Given the description of an element on the screen output the (x, y) to click on. 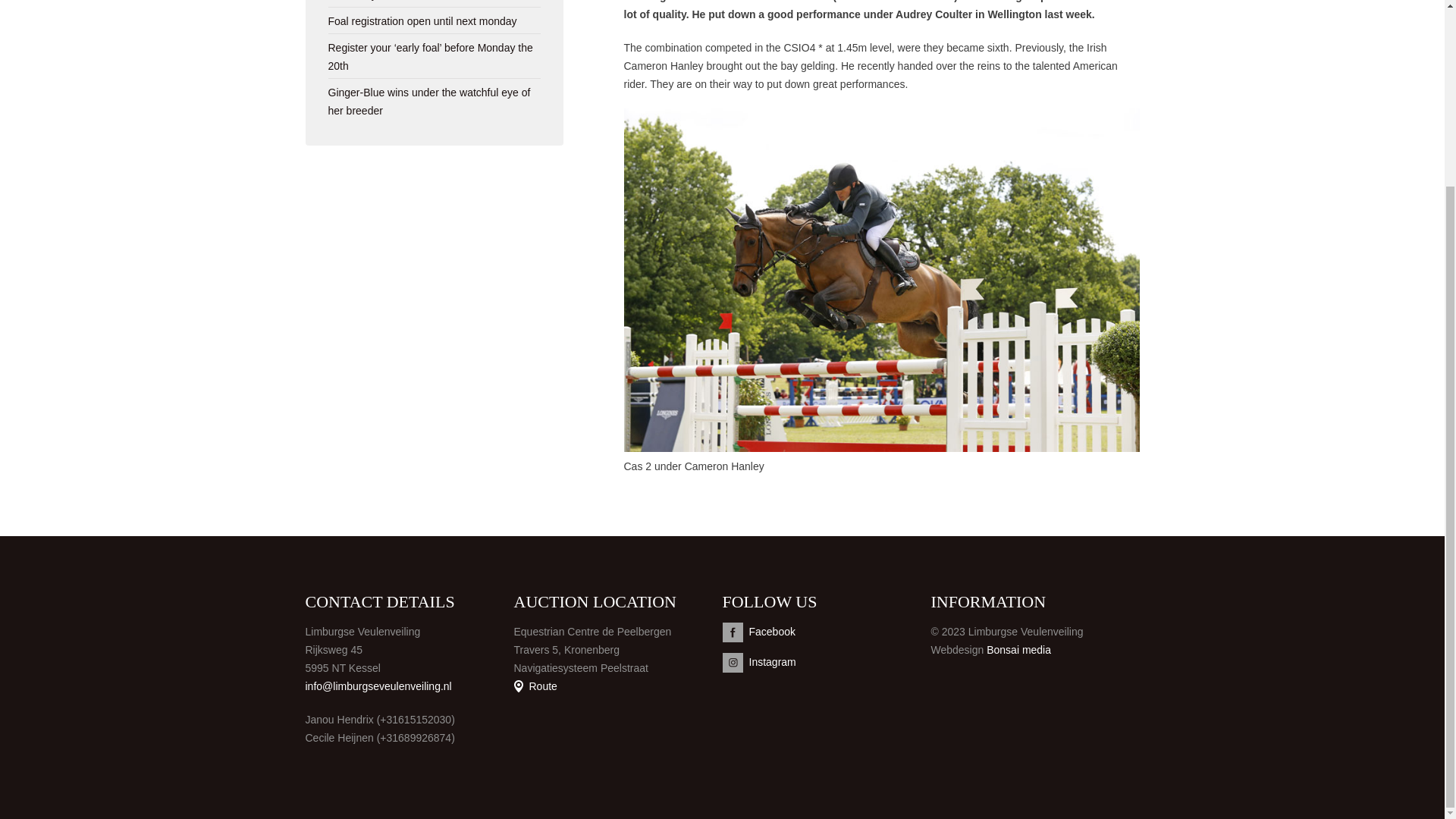
Facebook (826, 632)
Instagram (826, 662)
Ginger-Blue wins under the watchful eye of her breeder (428, 101)
Bonsai media (1019, 649)
Route (535, 686)
Foal registration open until next monday (421, 21)
